Given the description of an element on the screen output the (x, y) to click on. 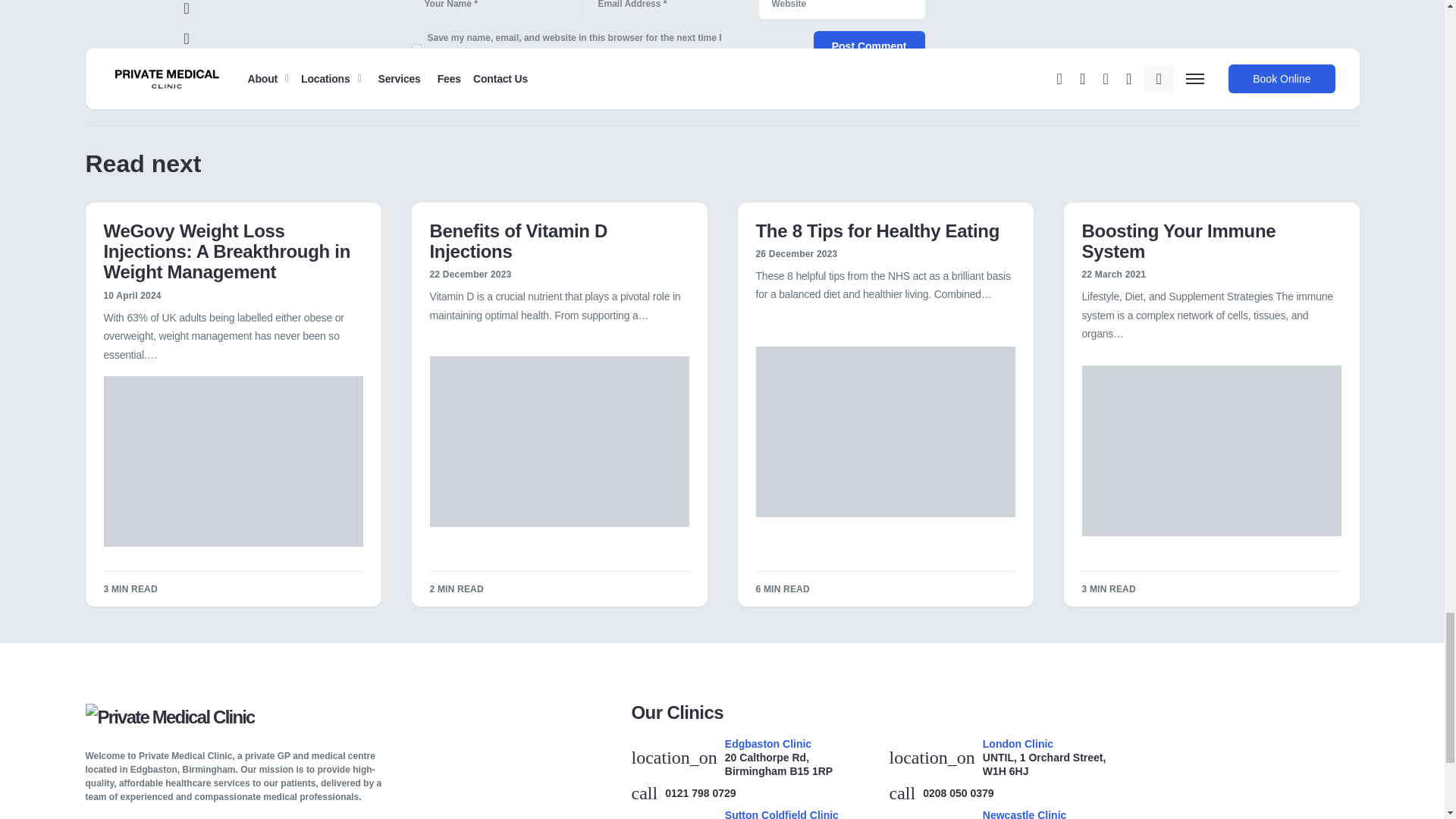
Post Comment (868, 46)
